Given the description of an element on the screen output the (x, y) to click on. 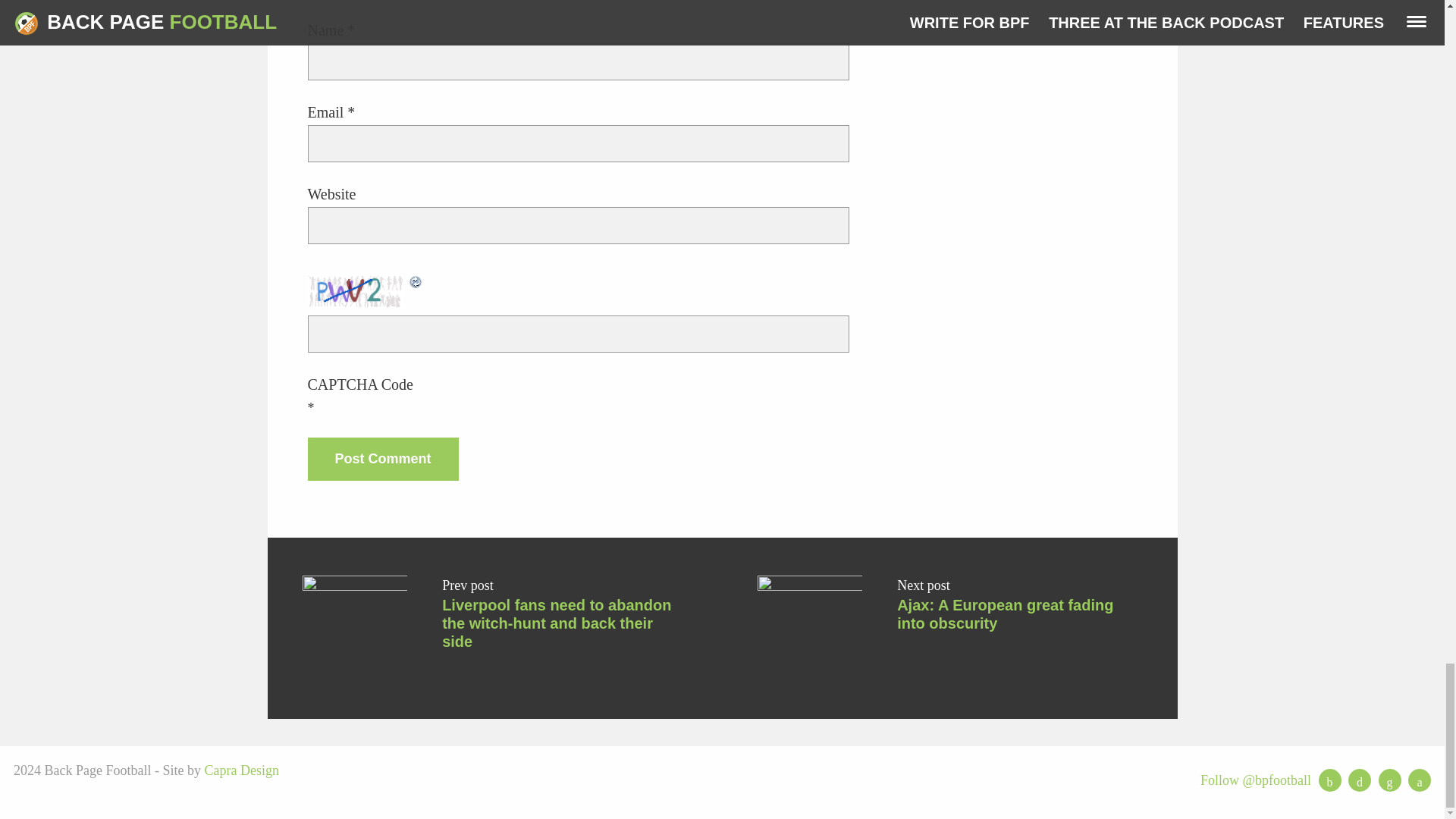
Post Comment (382, 458)
